Given the description of an element on the screen output the (x, y) to click on. 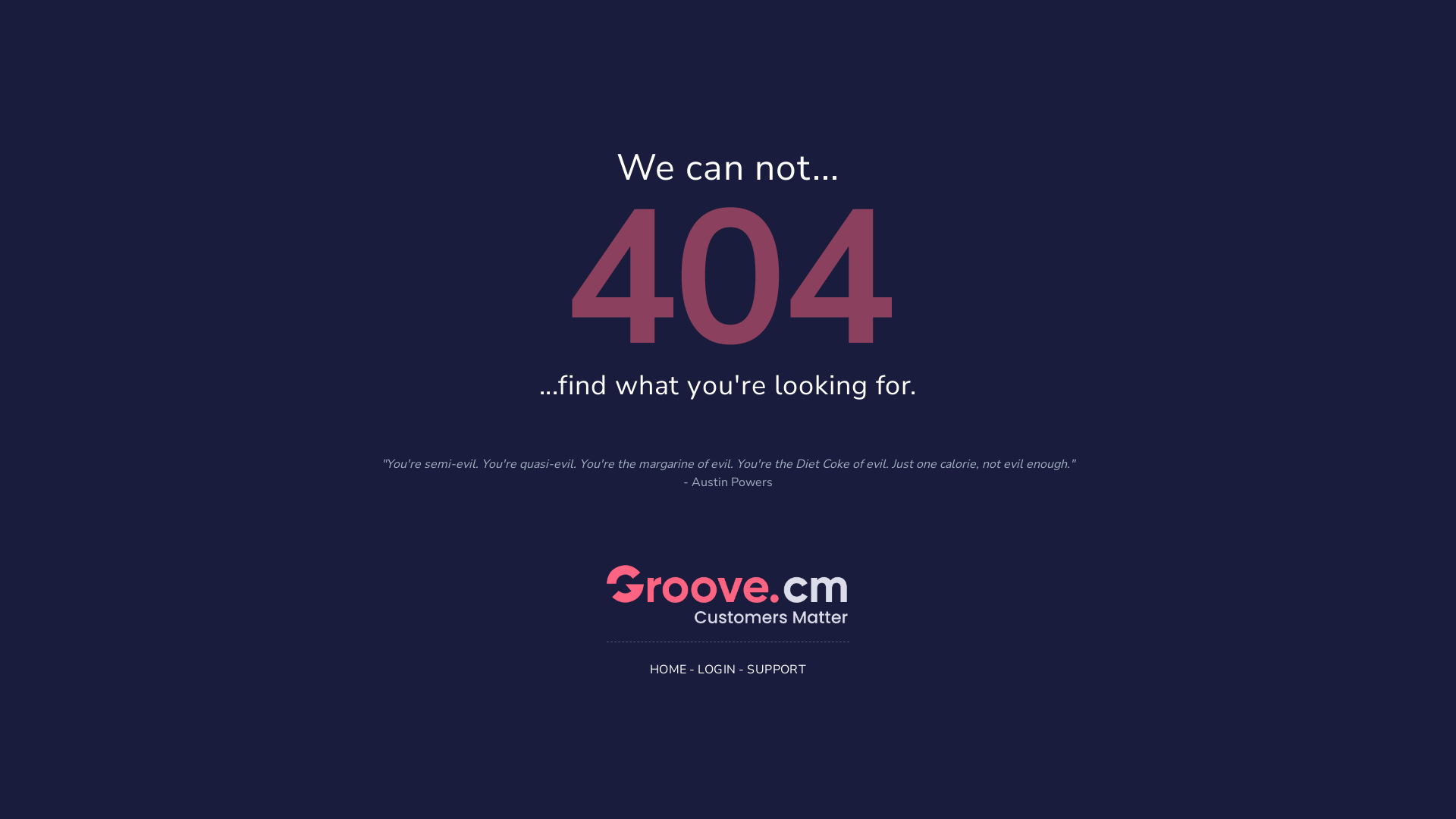
HOME Element type: text (668, 669)
LOGIN Element type: text (716, 669)
SUPPORT Element type: text (776, 669)
